Given the description of an element on the screen output the (x, y) to click on. 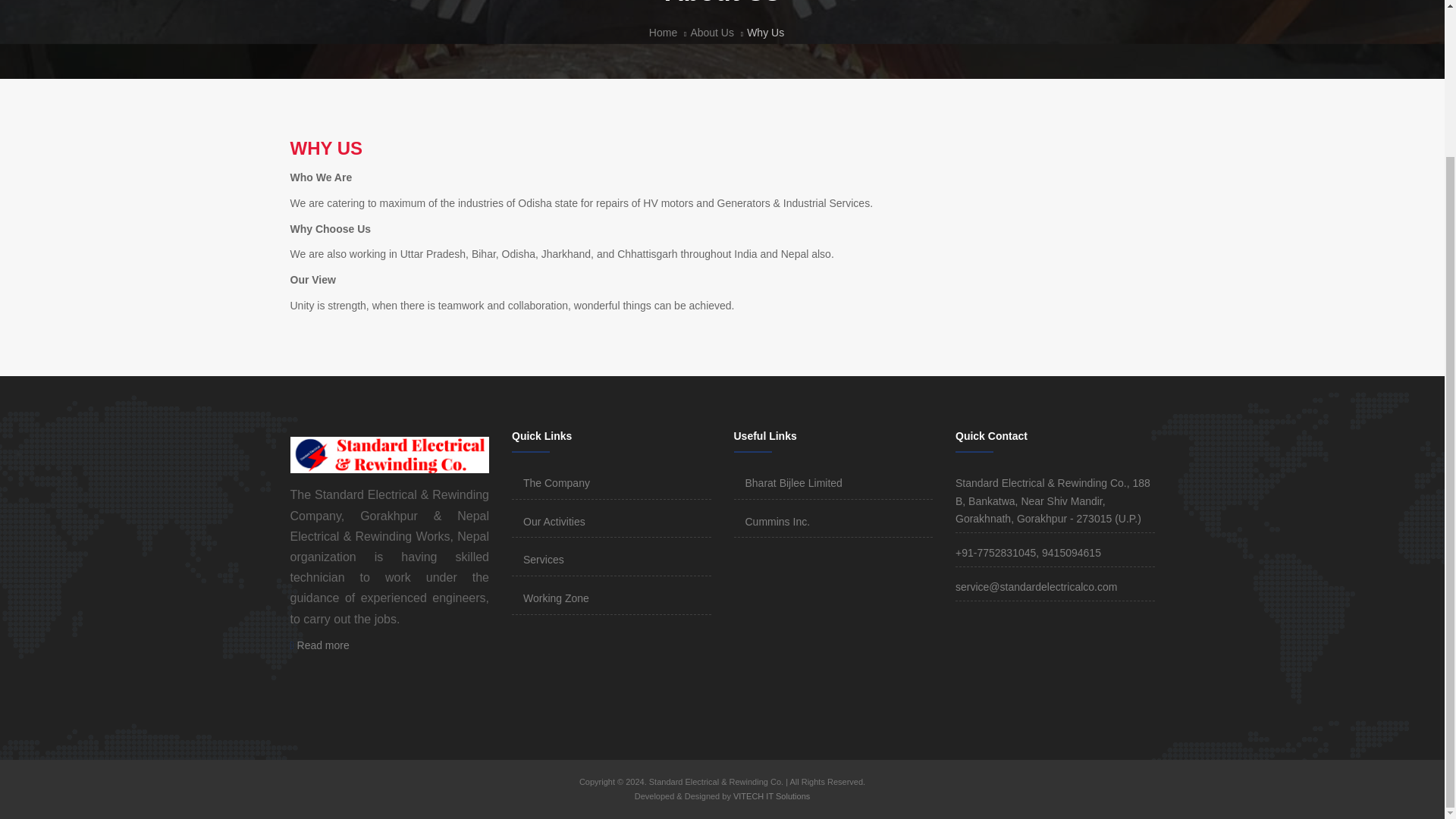
VITECH IT Solutions (769, 795)
Services (543, 559)
Our Activities (553, 521)
The Company (555, 482)
Bharat Bijlee Limited (792, 482)
Read more (319, 645)
Cummins Inc. (776, 521)
Home (663, 32)
About Us (711, 32)
Working Zone (555, 598)
